Given the description of an element on the screen output the (x, y) to click on. 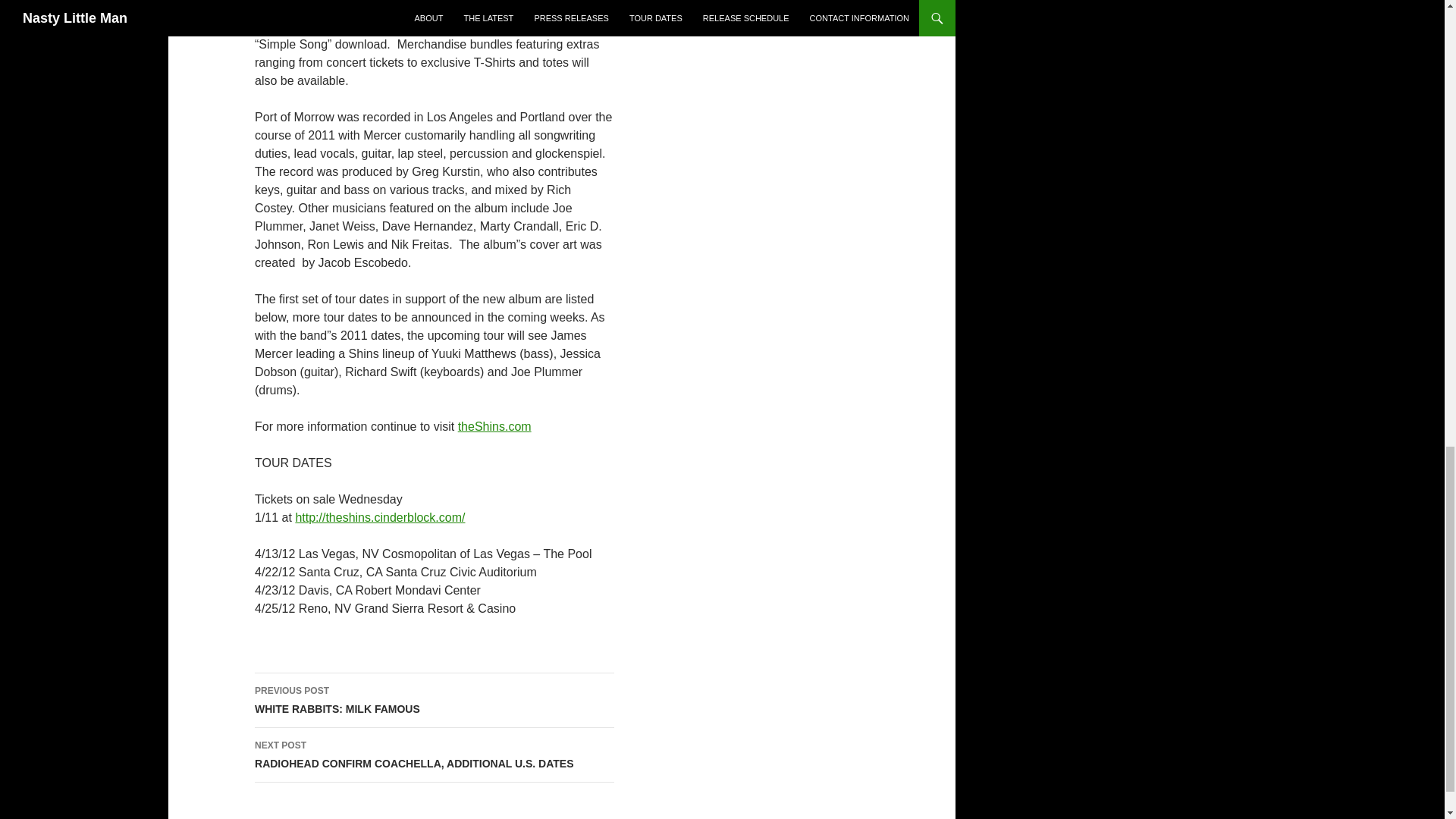
theShins.com (494, 426)
